Given the description of an element on the screen output the (x, y) to click on. 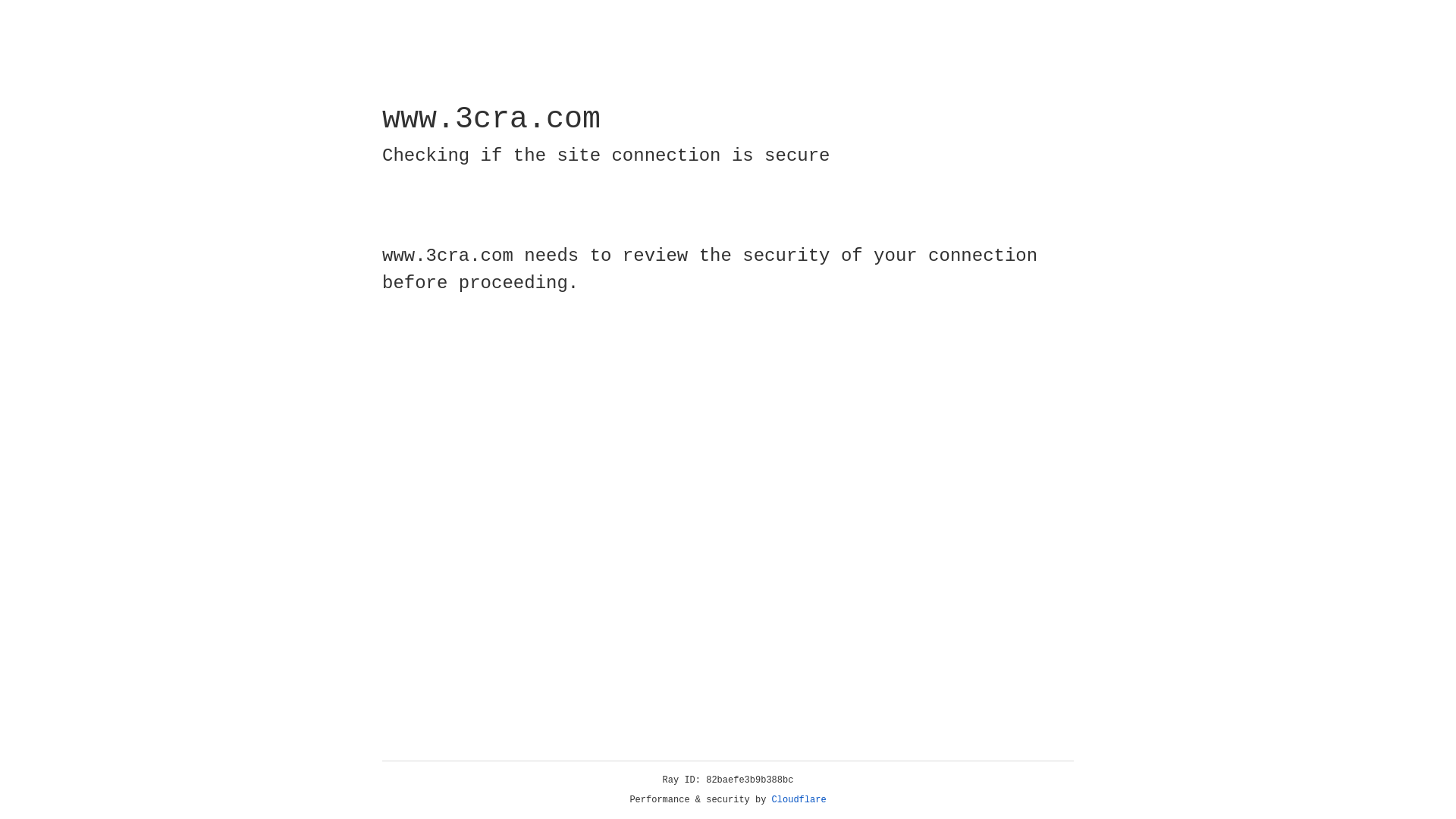
Cloudflare Element type: text (798, 799)
